Given the description of an element on the screen output the (x, y) to click on. 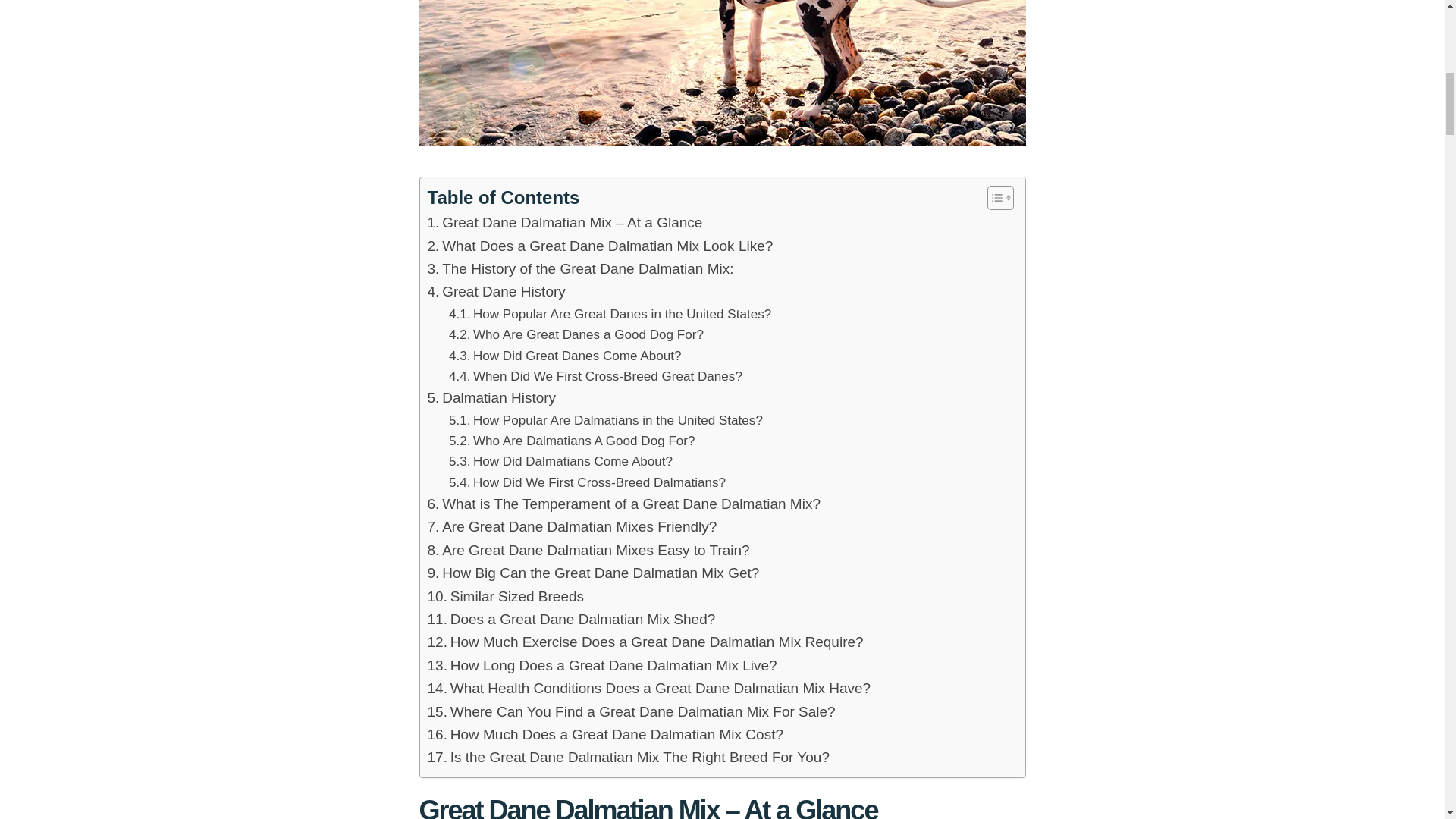
Similar Sized Breeds (506, 596)
Are Great Dane Dalmatian Mixes Friendly? (572, 526)
When Did We First Cross-Breed Great Danes? (595, 376)
Dalmatian History (492, 397)
Great Dane History (497, 291)
How Big Can the Great Dane Dalmatian Mix Get? (594, 572)
What is The Temperament of a Great Dane Dalmatian Mix? (624, 504)
How Did Dalmatians Come About? (560, 461)
Are Great Dane Dalmatian Mixes Friendly? (572, 526)
How Much Exercise Does a Great Dane Dalmatian Mix Require? (645, 641)
